Given the description of an element on the screen output the (x, y) to click on. 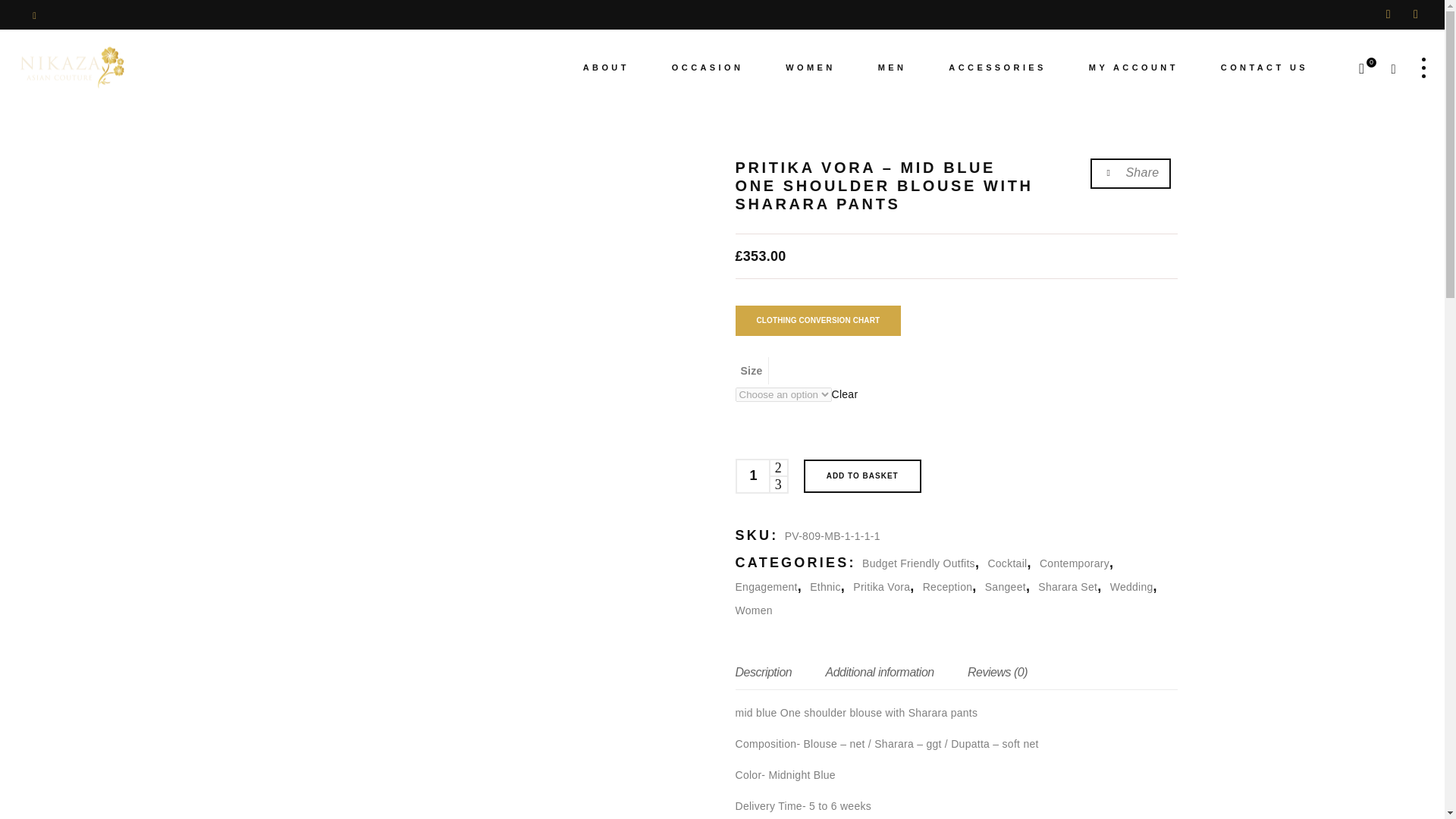
U (940, 414)
ABOUT (606, 67)
1 (752, 475)
Qty (752, 475)
WOMEN (810, 67)
OCCASION (707, 67)
